Given the description of an element on the screen output the (x, y) to click on. 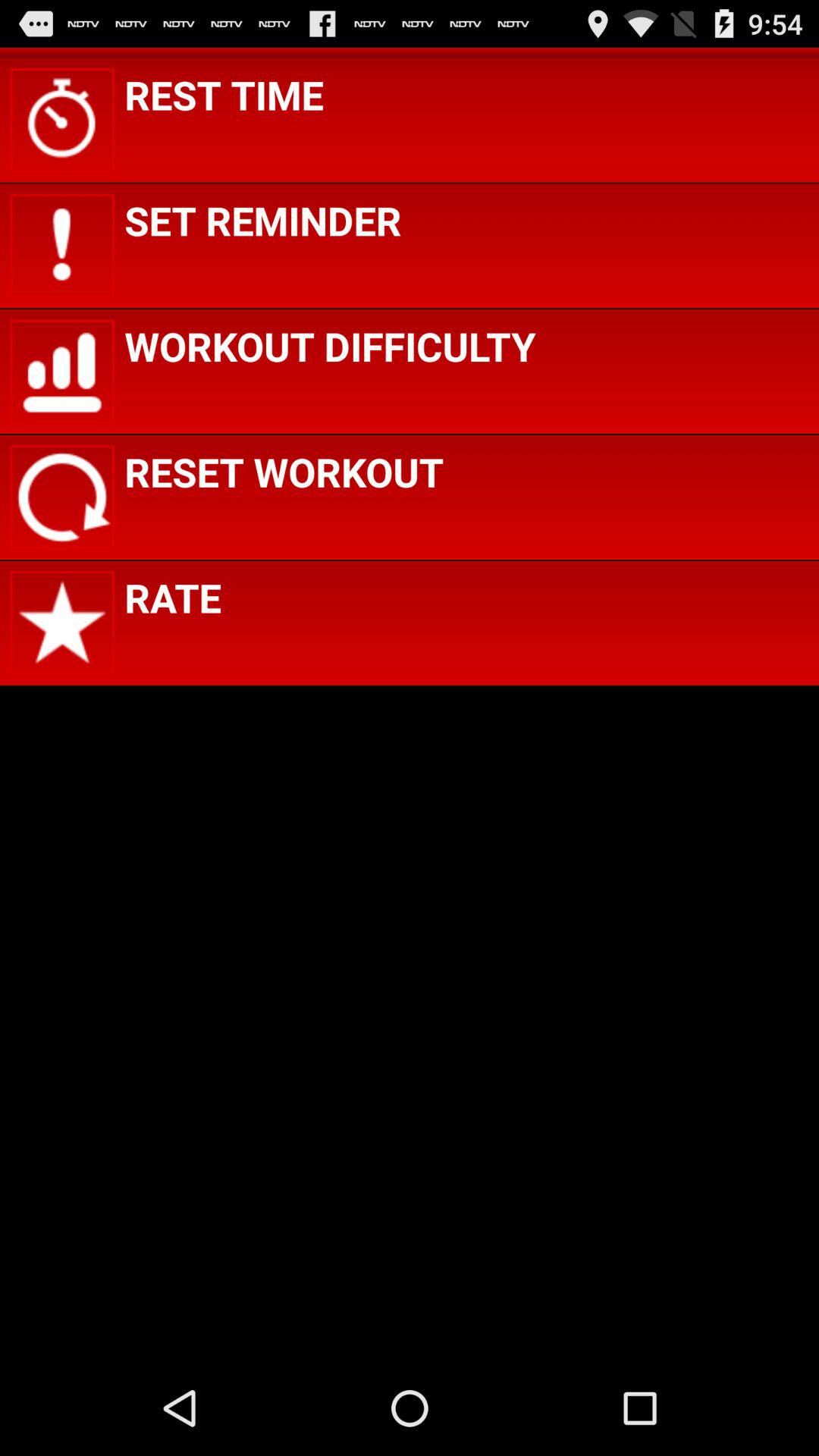
press the app above the rate icon (283, 471)
